Given the description of an element on the screen output the (x, y) to click on. 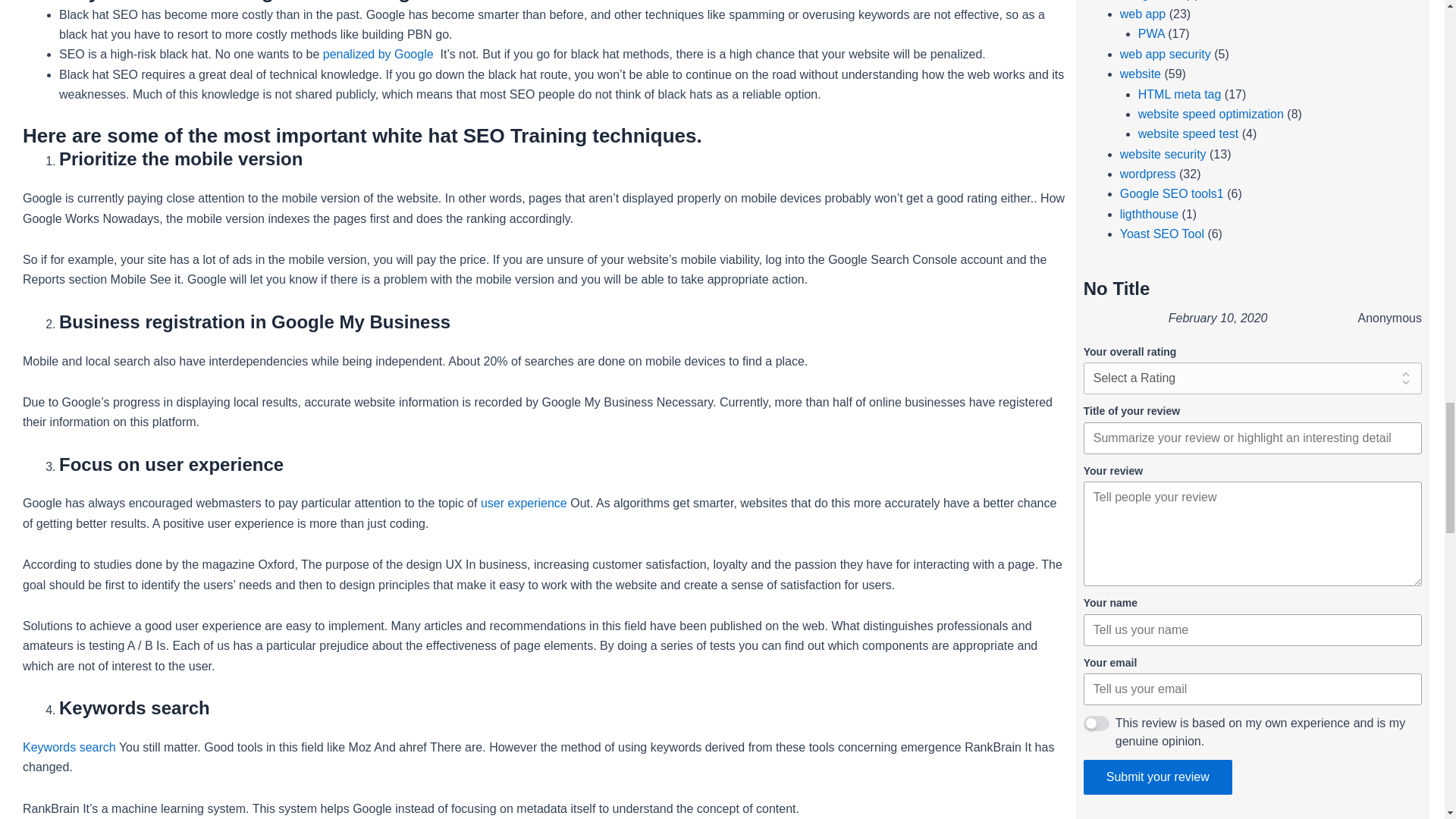
penalized by Google (378, 53)
1 (1096, 723)
